Given the description of an element on the screen output the (x, y) to click on. 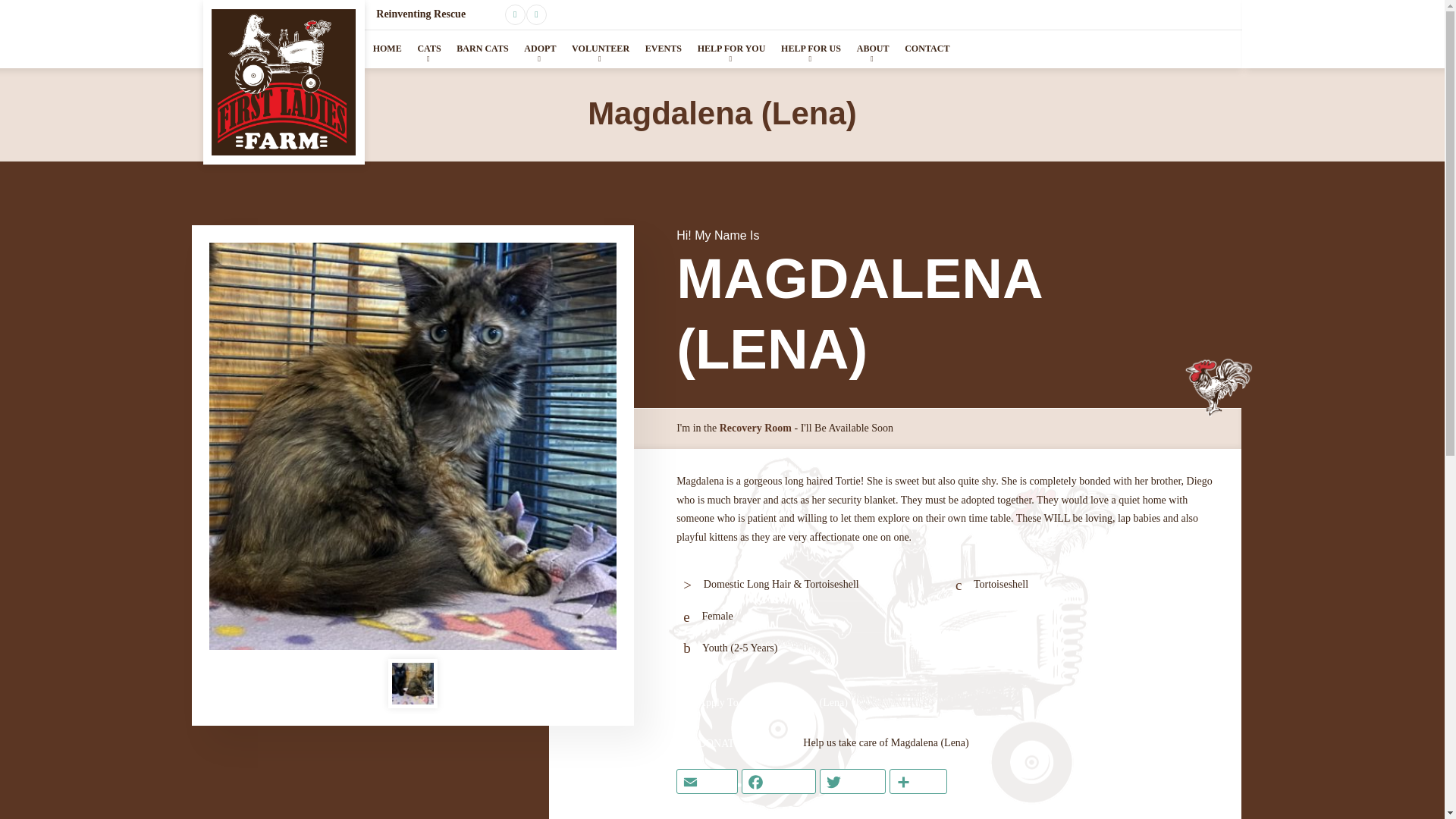
Follow Us on Instagram (536, 14)
CATS (428, 48)
Donate (1203, 14)
ADOPT (540, 48)
HELP FOR US (810, 48)
Twitter (852, 781)
VOLUNTEER (600, 48)
HELP FOR YOU (730, 48)
DONATE NOW (730, 743)
Follow Us on Facebook (515, 14)
CONTACT (927, 48)
Twitter (852, 781)
Email (707, 781)
EVENTS (662, 48)
BARN CATS (482, 48)
